Given the description of an element on the screen output the (x, y) to click on. 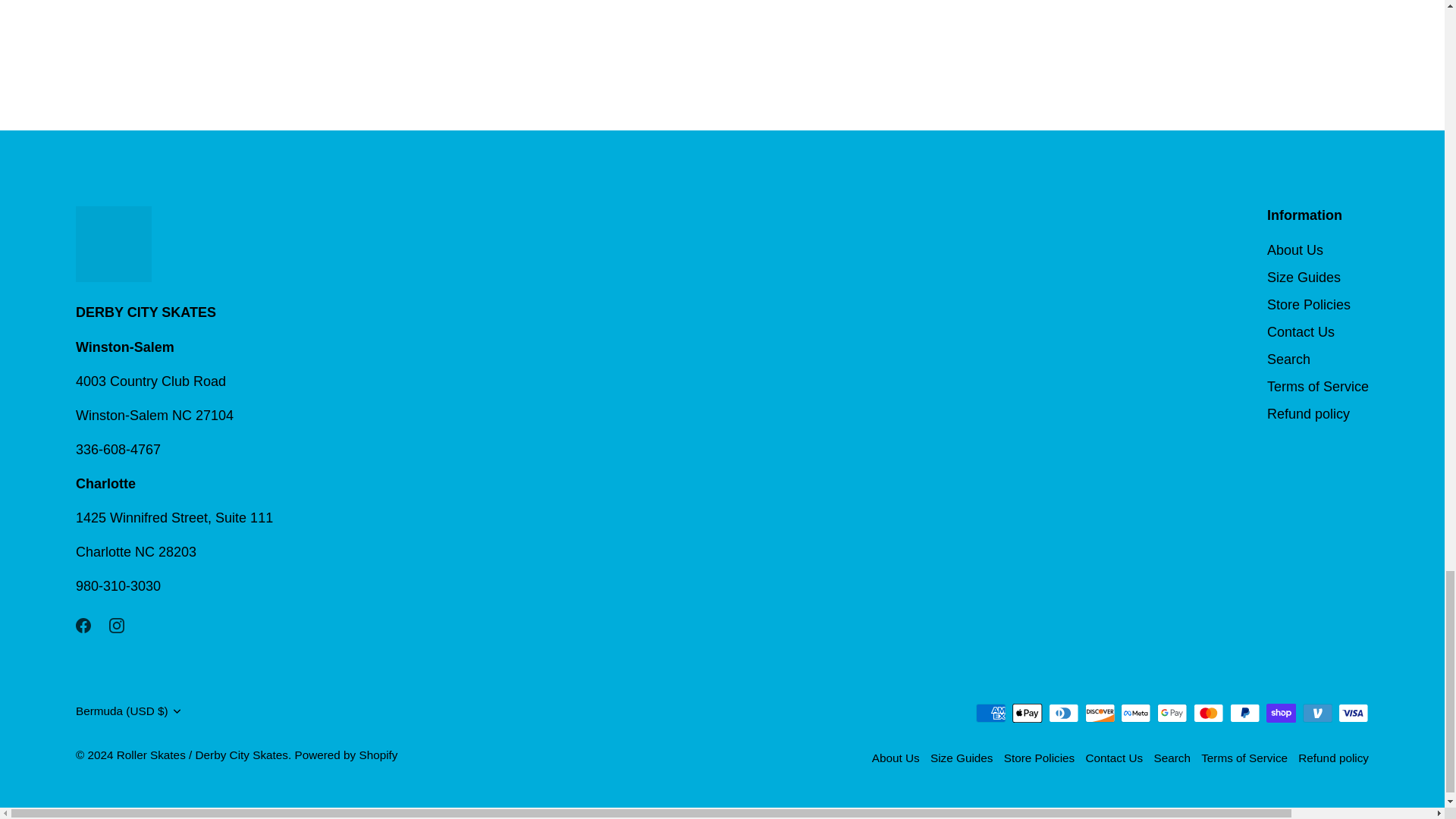
Diners Club (1063, 712)
Venmo (1317, 712)
American Express (990, 712)
Apple Pay (1026, 712)
Shop Pay (1280, 712)
Meta Pay (1135, 712)
Visa (1353, 712)
PayPal (1244, 712)
Google Pay (1171, 712)
Mastercard (1208, 712)
